Given the description of an element on the screen output the (x, y) to click on. 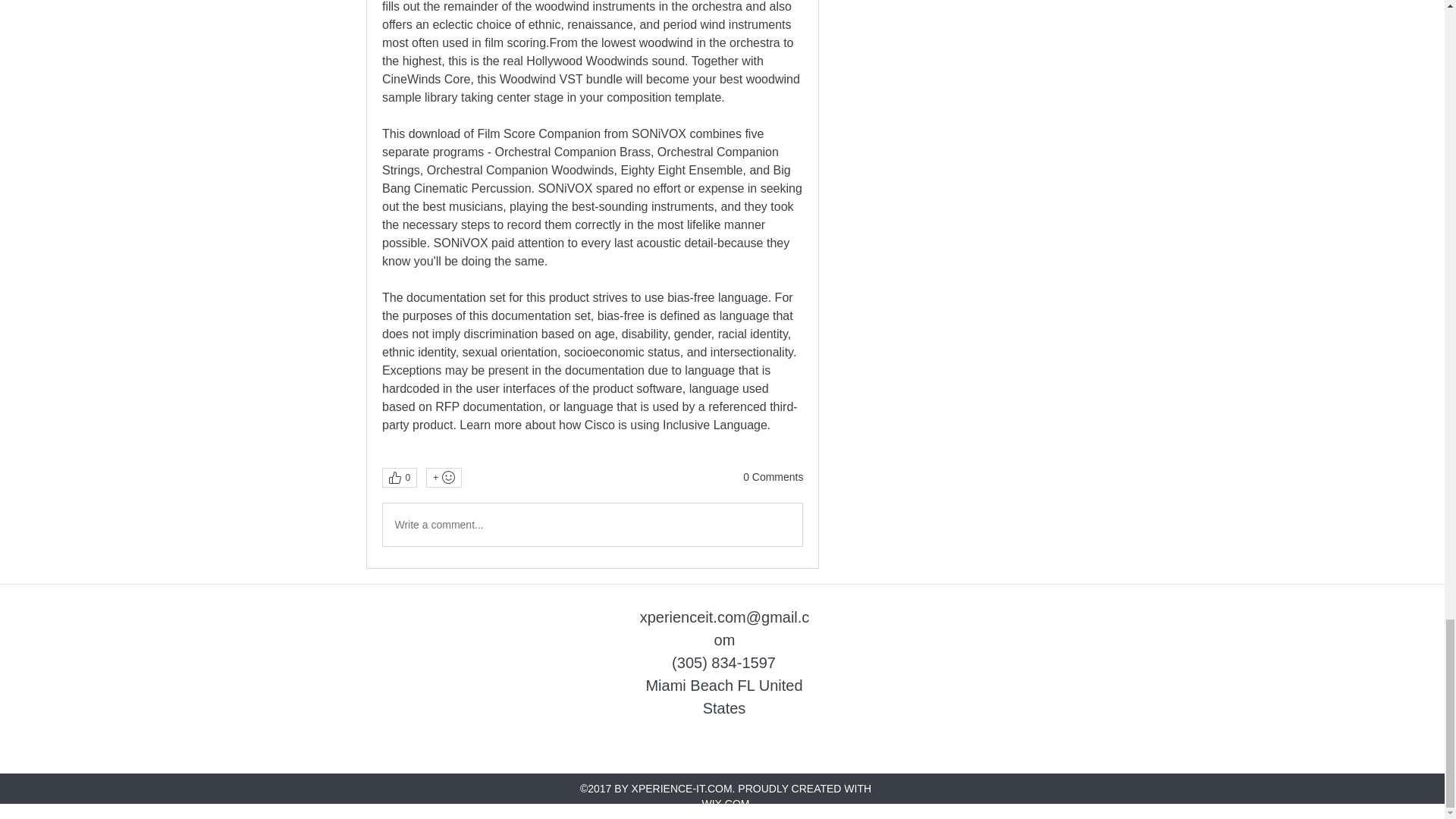
0 Comments (772, 477)
Write a comment... (591, 524)
